Given the description of an element on the screen output the (x, y) to click on. 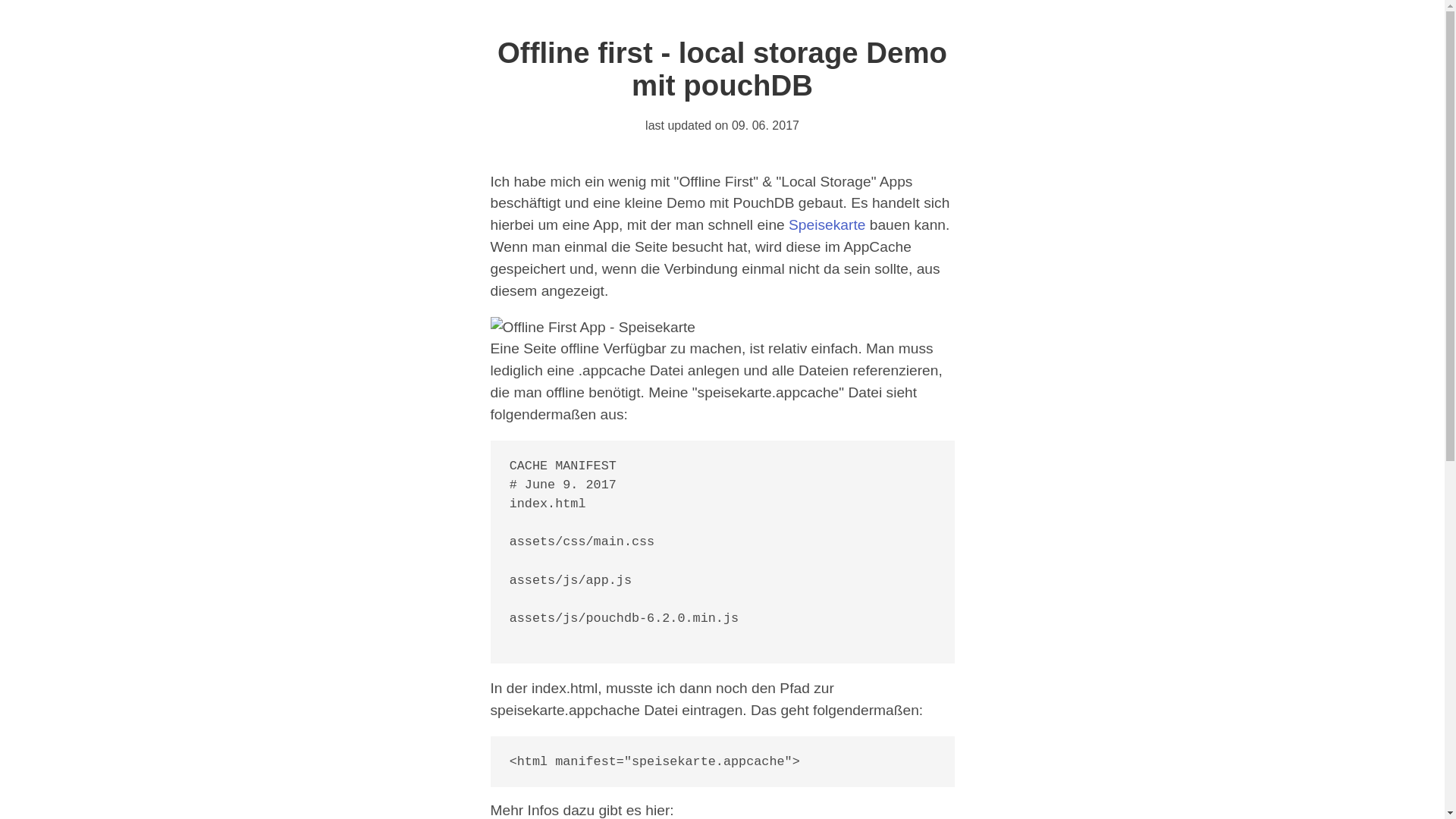
Speisekarte Element type: text (826, 224)
